Given the description of an element on the screen output the (x, y) to click on. 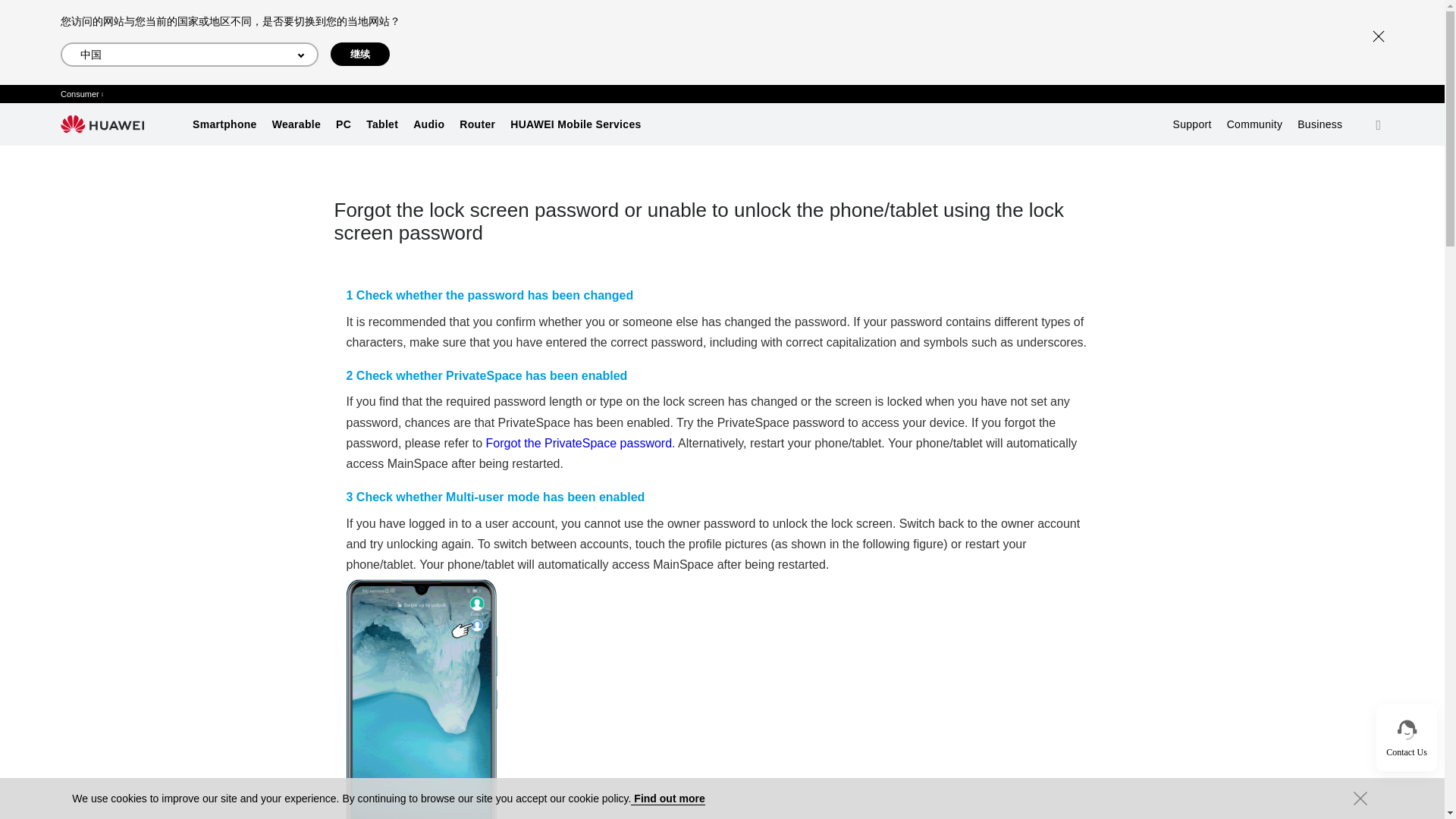
 Find out more (667, 798)
Find out more (667, 798)
logo (102, 124)
Community (1254, 124)
Smartphone (224, 124)
HUAWEI Mobile Services (575, 124)
Smartphone (224, 124)
Community (1254, 124)
Support (1192, 124)
Wearable (296, 124)
Business (1319, 124)
Support (1192, 124)
HUAWEI Mobile Services (575, 124)
Wearable (296, 124)
Forgot the PrivateSpace password (578, 442)
